Given the description of an element on the screen output the (x, y) to click on. 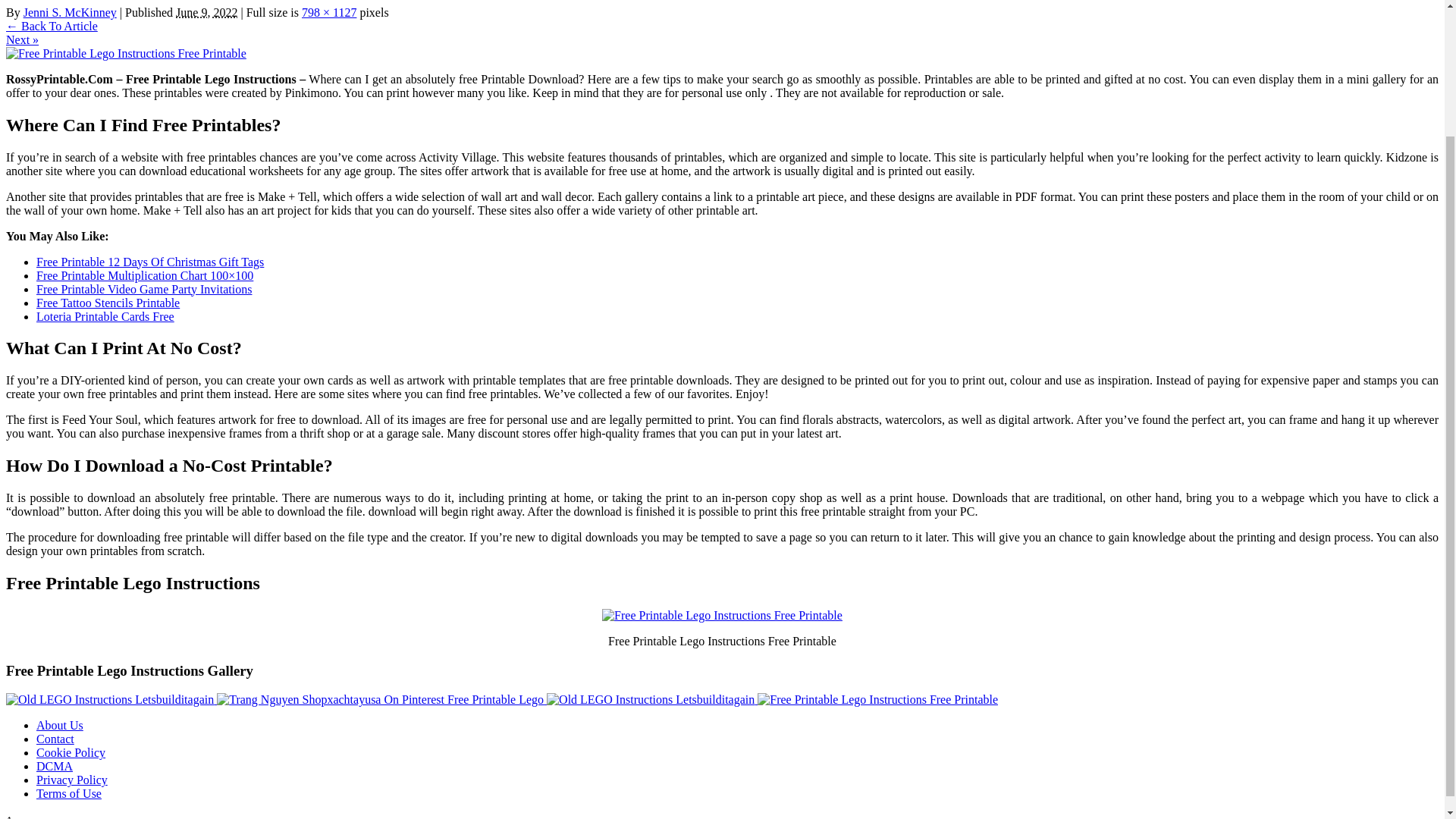
DCMA (54, 766)
Trang Nguyen Shopxachtayusa On Pinterest Free Printable Lego (379, 699)
Free Printable Lego Instructions Free Printable (125, 52)
Free Tattoo Stencils Printable (107, 301)
Old LEGO Instructions Letsbuilditagain (650, 699)
Free Printable 12 Days Of Christmas Gift Tags (149, 260)
About Us (59, 725)
Old LEGO Instructions Letsbuilditagain (110, 698)
Old LEGO Instructions Letsbuilditagain (109, 699)
Contact (55, 738)
Return to Free Printable Lego Instructions (51, 25)
Free Printable Video Game Party Invitations (143, 287)
View all posts by Jenni S. McKinney (69, 11)
3:25 pm (206, 11)
Cookie Policy (70, 752)
